Given the description of an element on the screen output the (x, y) to click on. 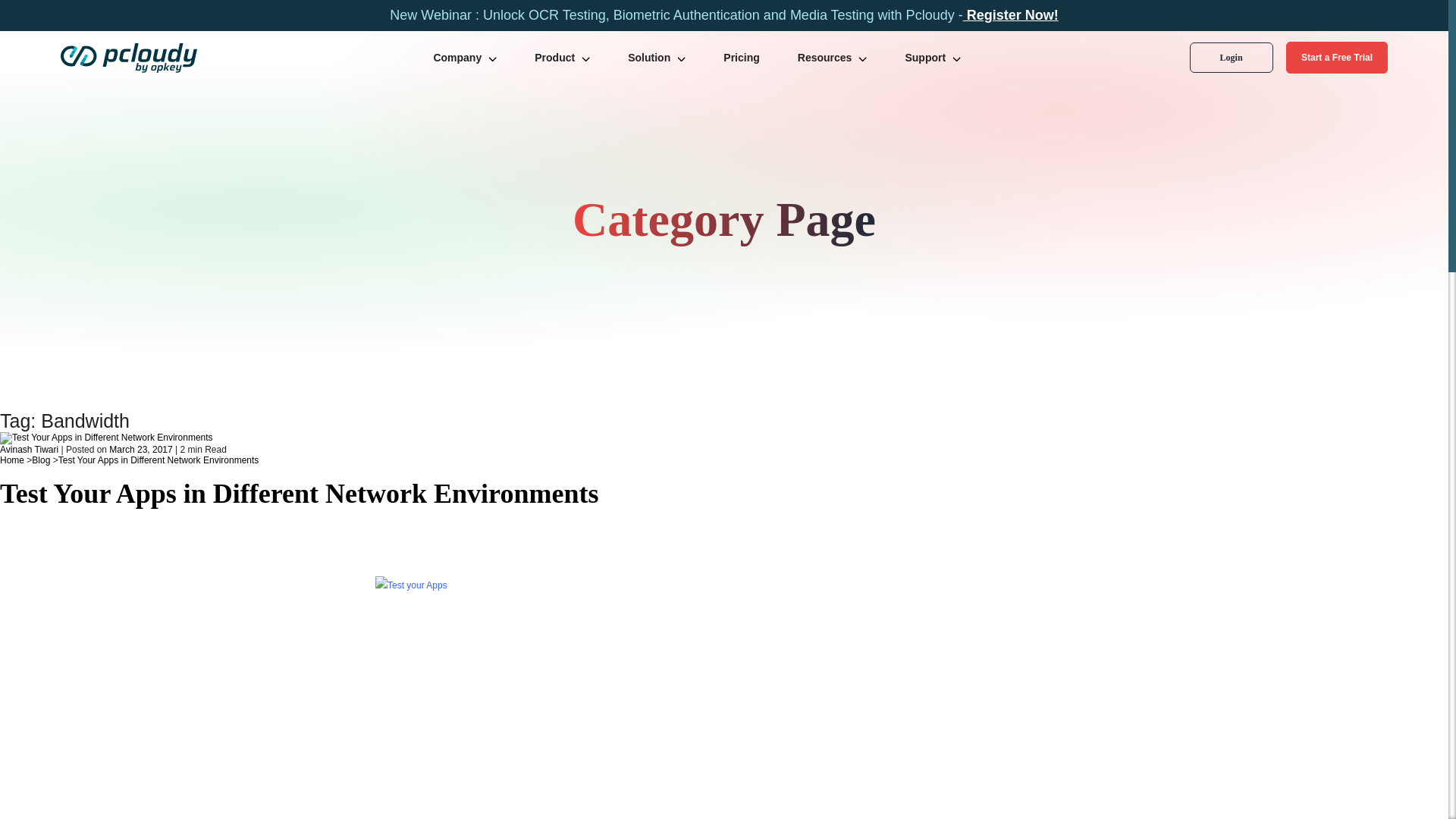
Pricing (740, 57)
Register Now! (1010, 14)
Resources (831, 57)
Company (464, 57)
Product (562, 57)
Support (932, 57)
Solution (656, 57)
